Given the description of an element on the screen output the (x, y) to click on. 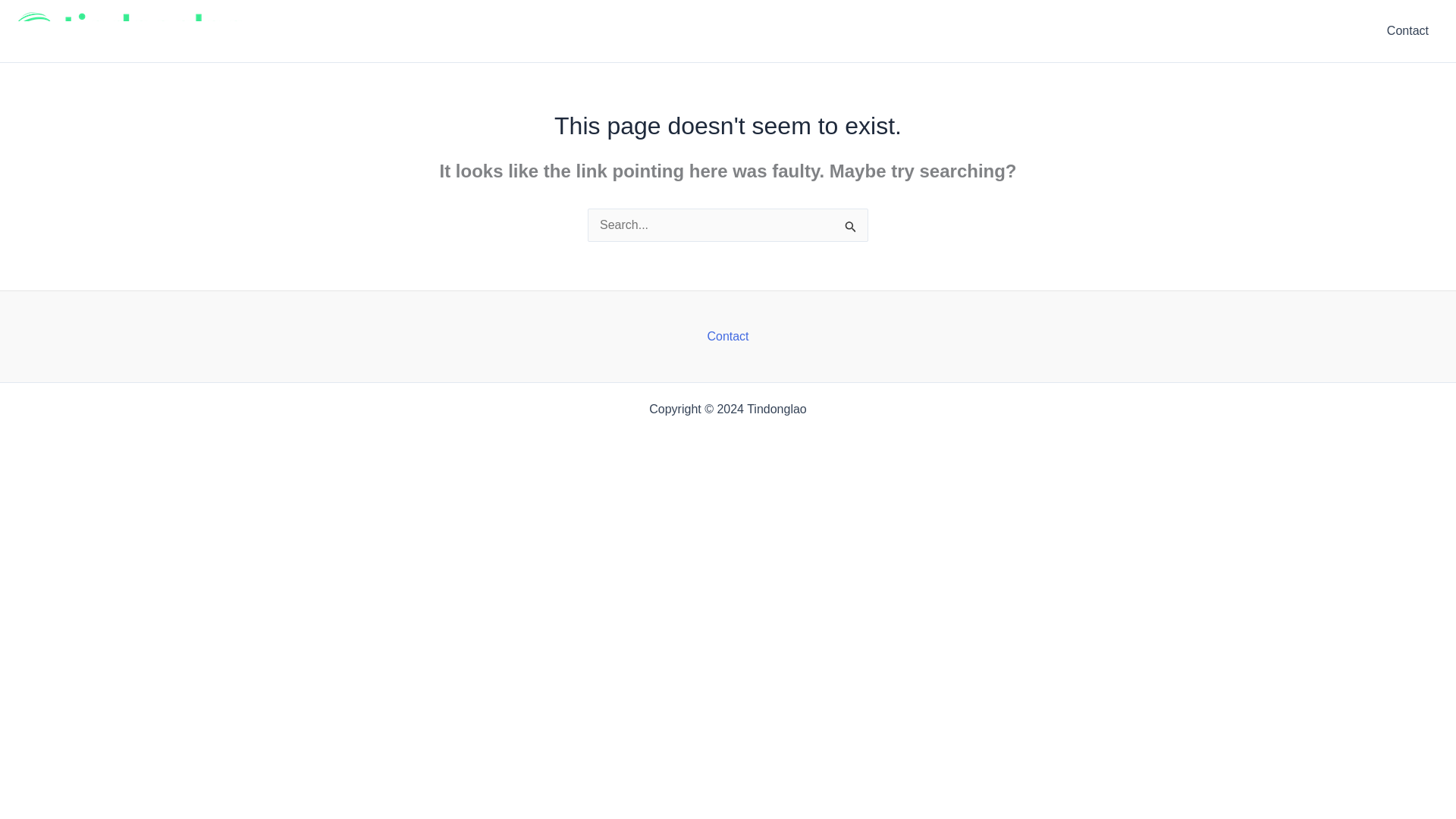
Contact (727, 336)
Contact (1407, 30)
